Given the description of an element on the screen output the (x, y) to click on. 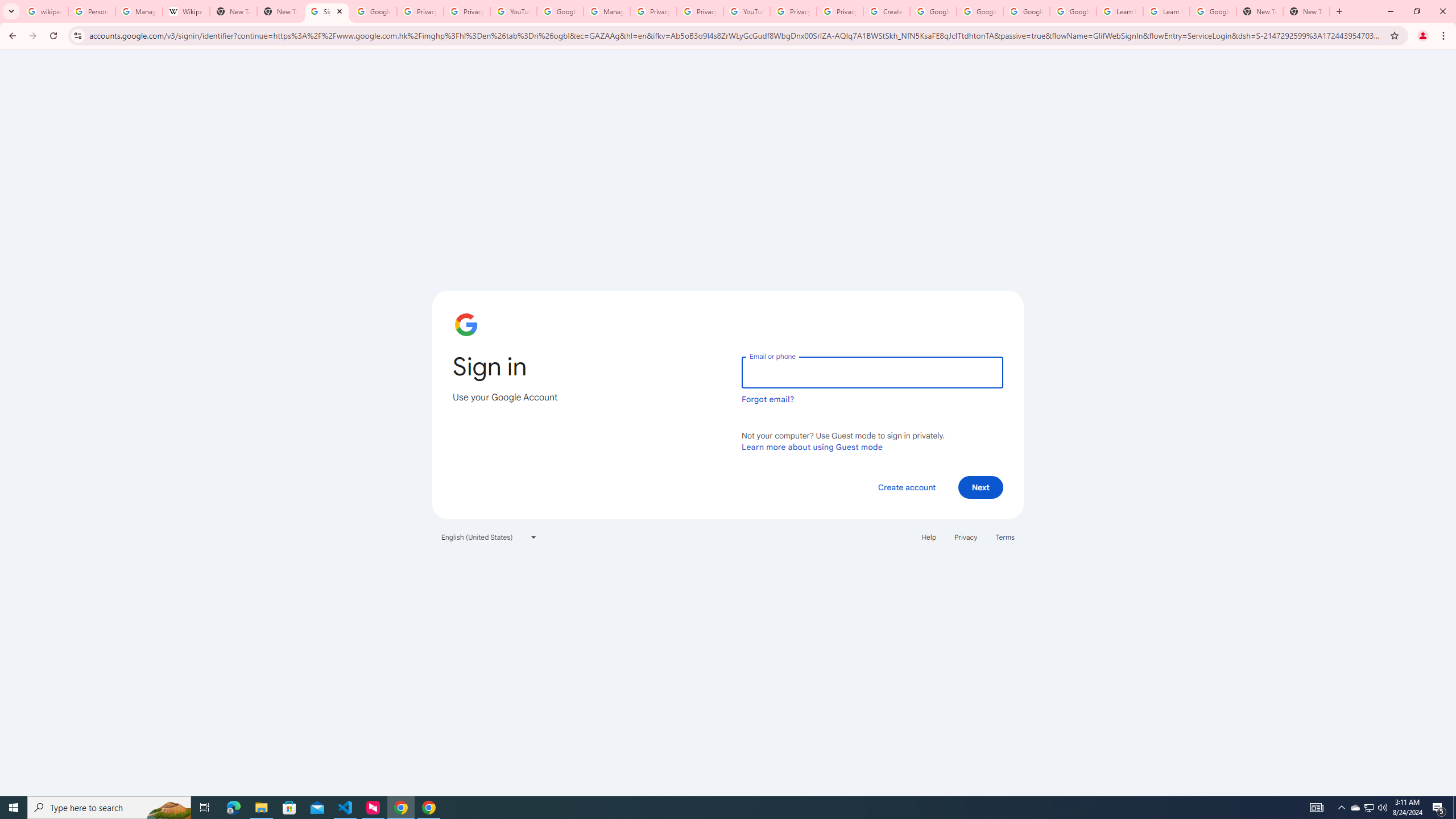
Create your Google Account (886, 11)
Manage your Location History - Google Search Help (138, 11)
Personalization & Google Search results - Google Search Help (91, 11)
Sign in - Google Accounts (326, 11)
